Given the description of an element on the screen output the (x, y) to click on. 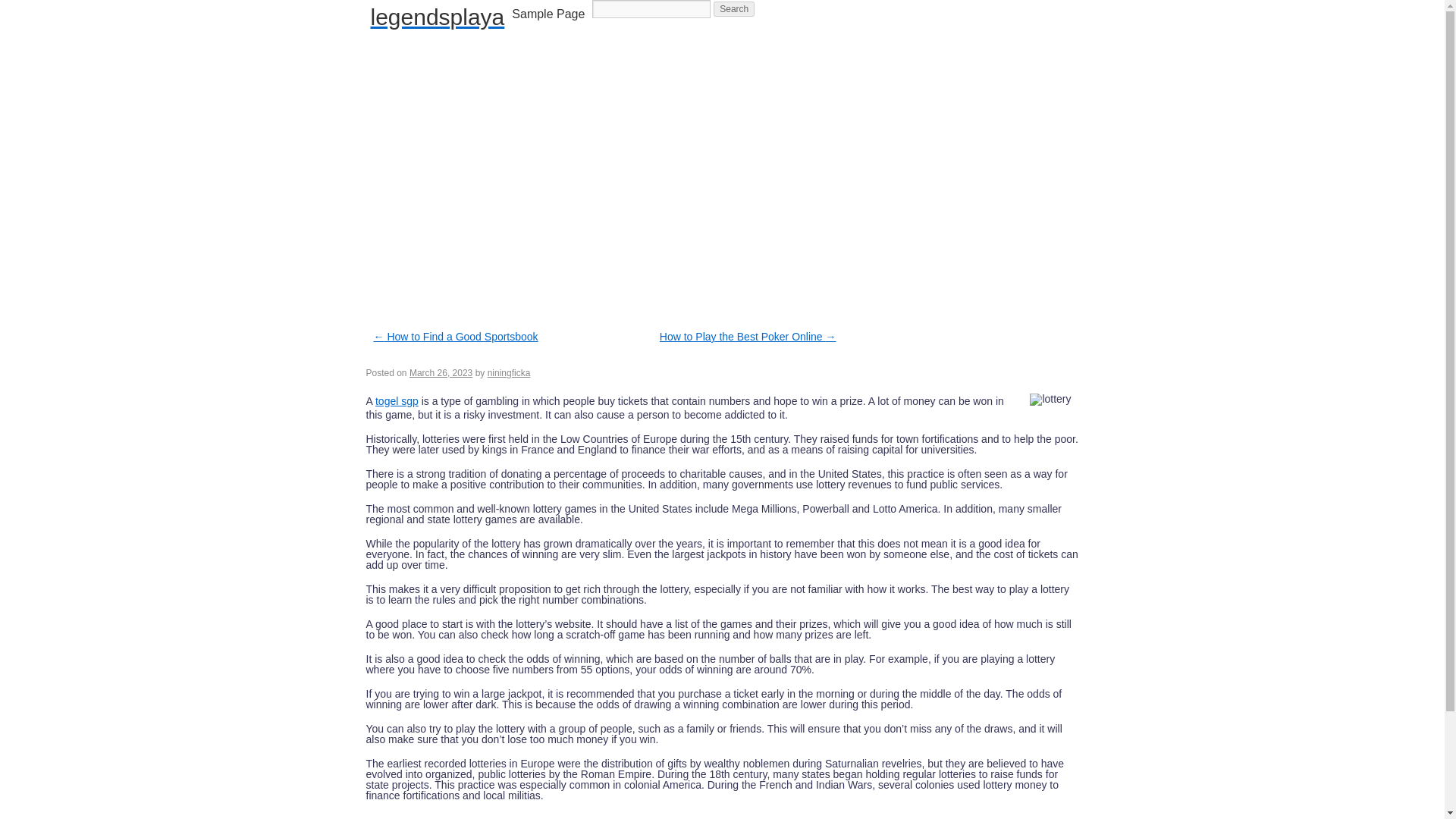
10:06 am (440, 372)
View all posts by niningficka (509, 372)
March 26, 2023 (440, 372)
togel sgp (397, 400)
niningficka (509, 372)
Search (733, 8)
legendsplaya (436, 16)
Sample Page (547, 14)
Search (733, 8)
